Given the description of an element on the screen output the (x, y) to click on. 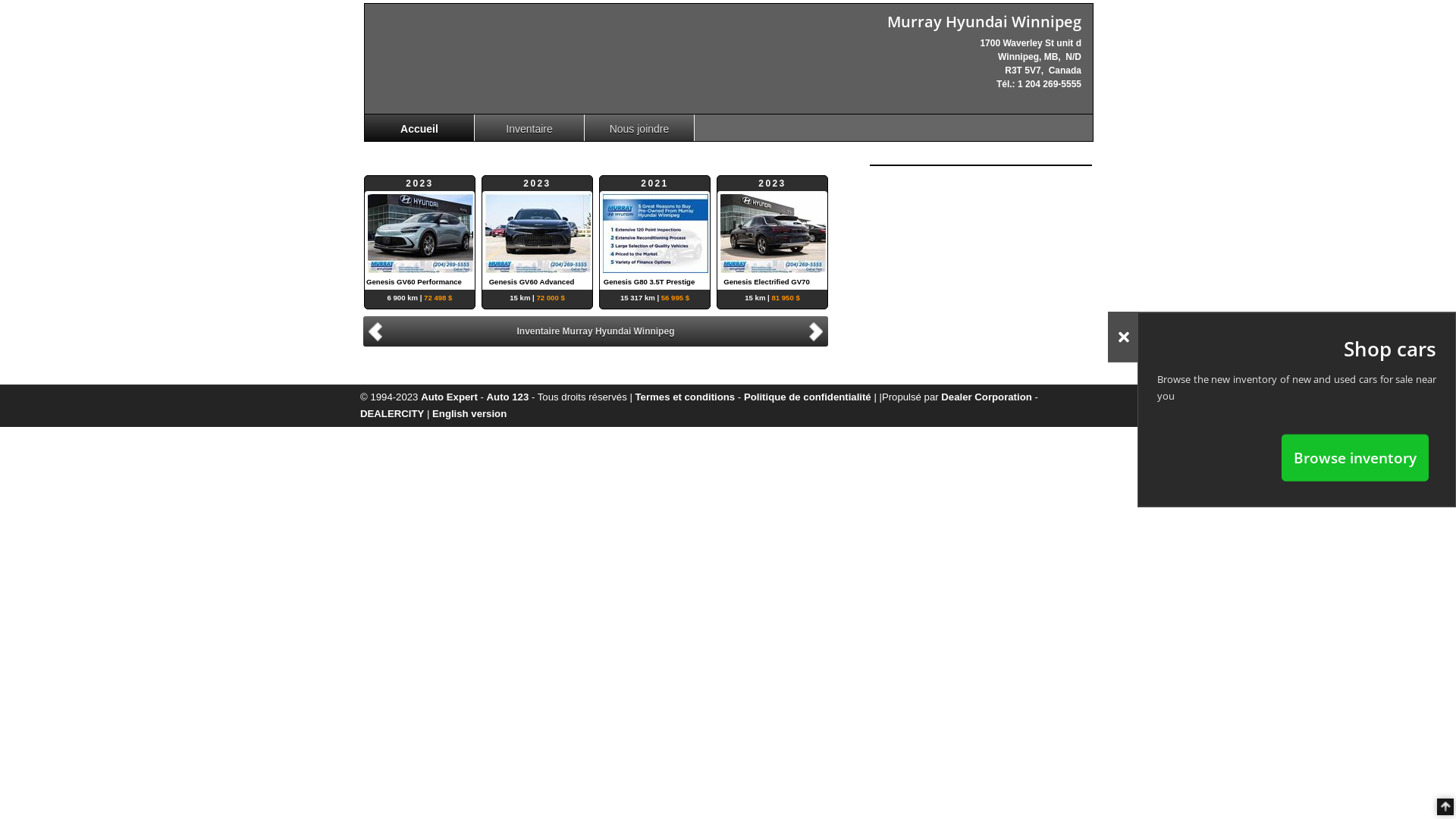
DEALERCITY Element type: text (391, 413)
Browse inventory Element type: text (1354, 457)
Inventaire Element type: text (529, 127)
Suivant Element type: hover (818, 329)
Termes et conditions Element type: text (685, 396)
Nous joindre Element type: text (639, 127)
Auto Expert Element type: text (448, 396)
English version Element type: text (469, 413)
Auto 123 Element type: text (507, 396)
Accueil Element type: text (419, 127)
2023
Genesis GV60 Advanced AWD 2023
15 km | 72 000 $ Element type: text (537, 232)
Dealer Corporation Element type: text (986, 396)
